Given the description of an element on the screen output the (x, y) to click on. 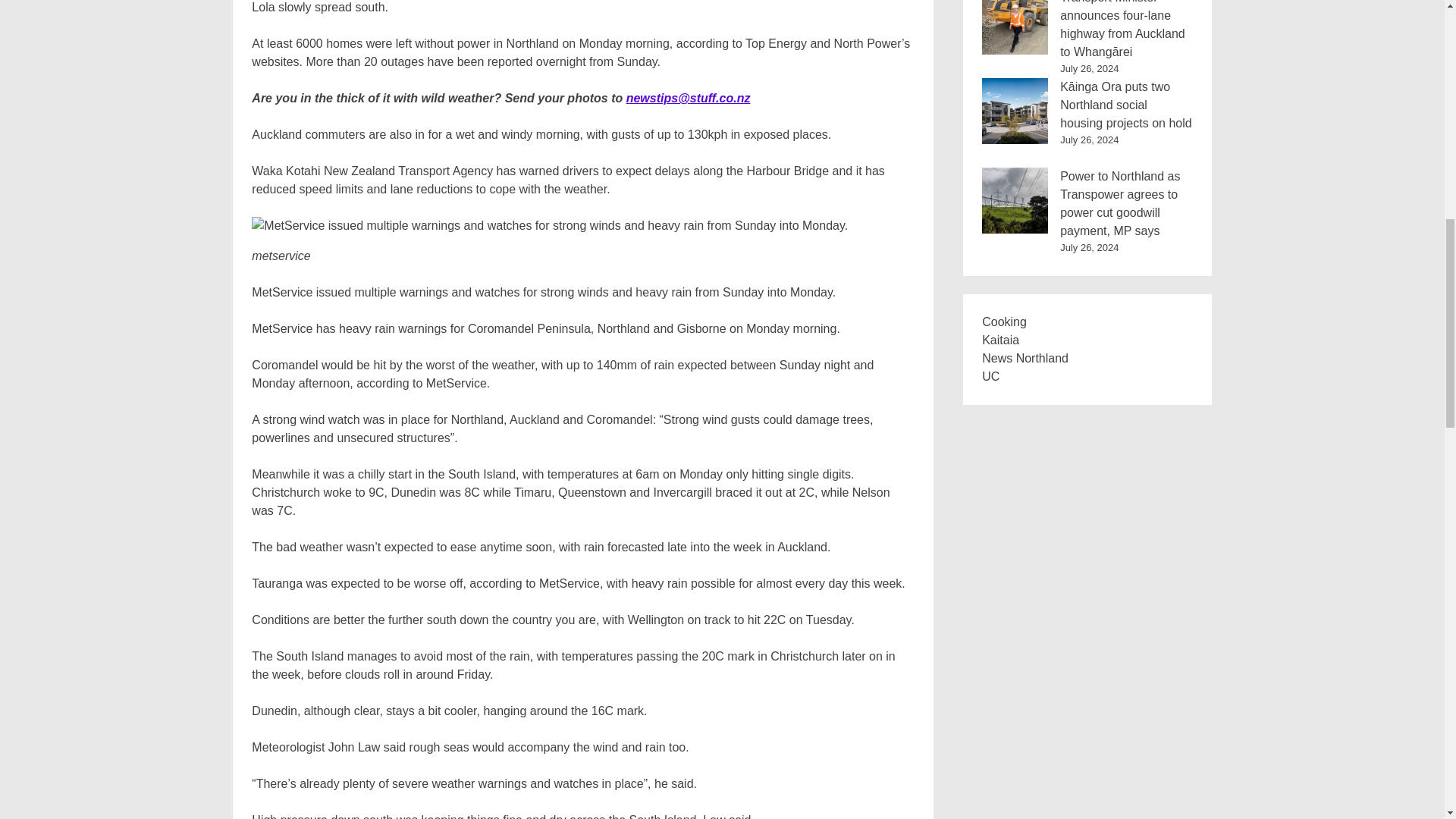
Cooking (1003, 321)
